Given the description of an element on the screen output the (x, y) to click on. 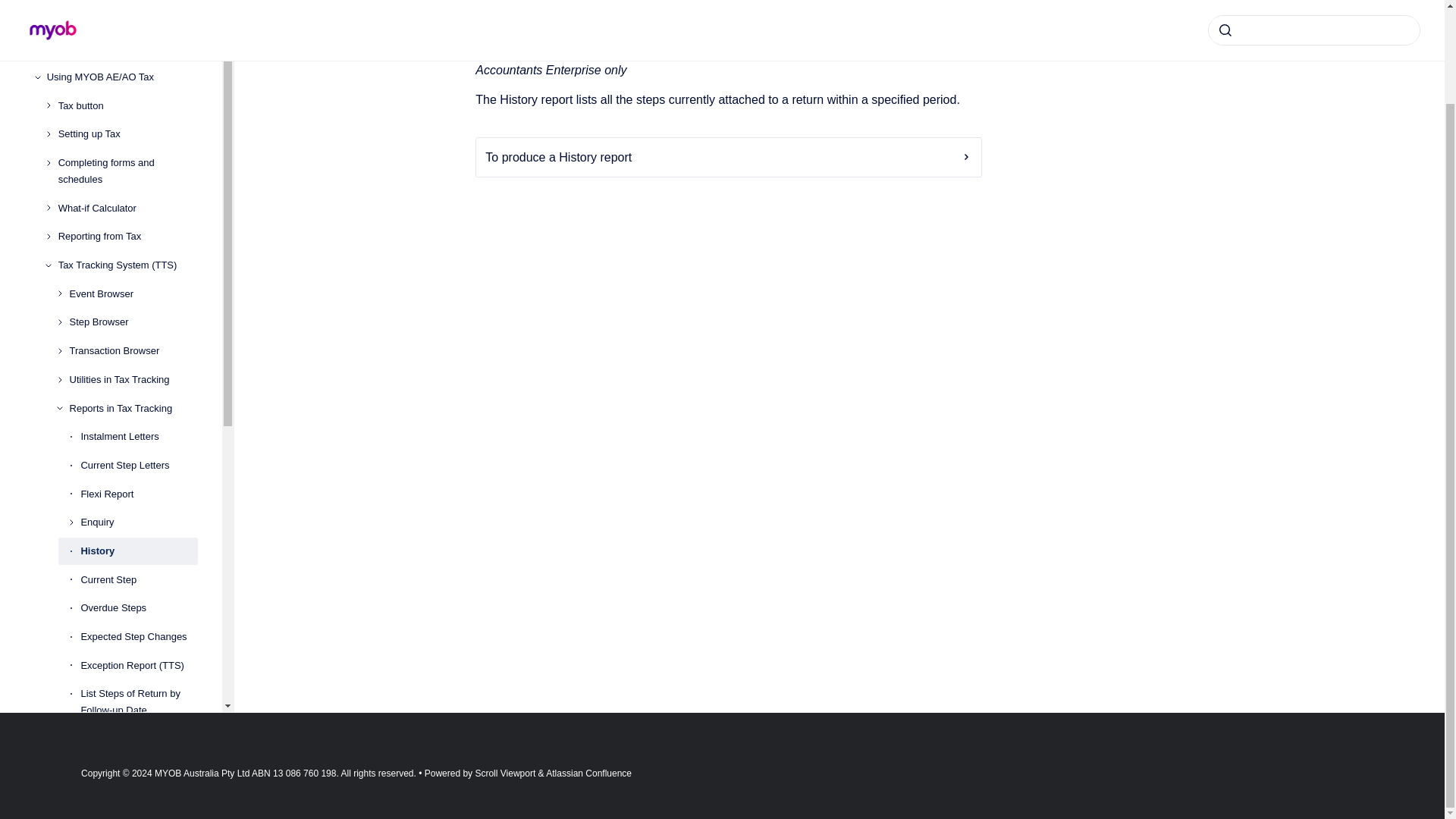
Step Browser (133, 322)
Reporting from Tax (128, 236)
Welcome to MYOB Tax (122, 2)
Event Browser (133, 293)
Transaction Browser (133, 350)
Current Step Letters (139, 465)
Client Update Forms via PLS (122, 48)
Income tax returns (122, 20)
Setting up Tax (128, 134)
Utilities in Tax Tracking (133, 379)
History (139, 551)
Enquiry (139, 522)
What-if Calculator (128, 207)
Tax button (128, 105)
Flexi Report (139, 493)
